Given the description of an element on the screen output the (x, y) to click on. 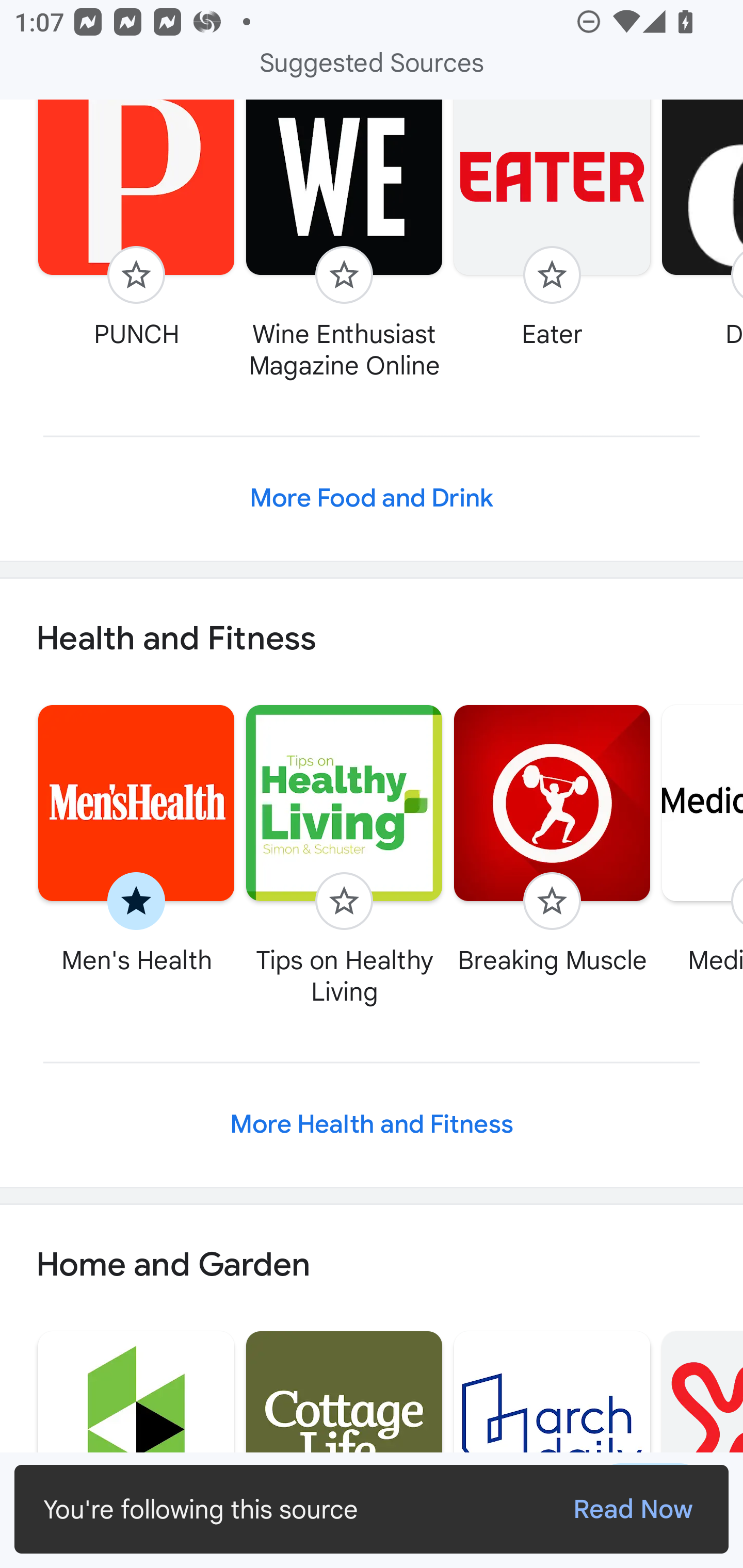
Follow PUNCH (136, 225)
Follow Wine Enthusiast Magazine Online (344, 241)
Follow Eater (552, 225)
Follow (135, 275)
Follow (343, 275)
Follow (552, 275)
More Food and Drink (371, 498)
Health and Fitness (371, 638)
Unfollow Men's Health (136, 838)
Follow Tips on Healthy Living (344, 854)
Follow Breaking Muscle (552, 838)
Unfollow (135, 900)
Follow (343, 900)
Follow (552, 900)
More Health and Fitness (371, 1124)
Home and Garden (371, 1264)
Read Now (632, 1509)
